Given the description of an element on the screen output the (x, y) to click on. 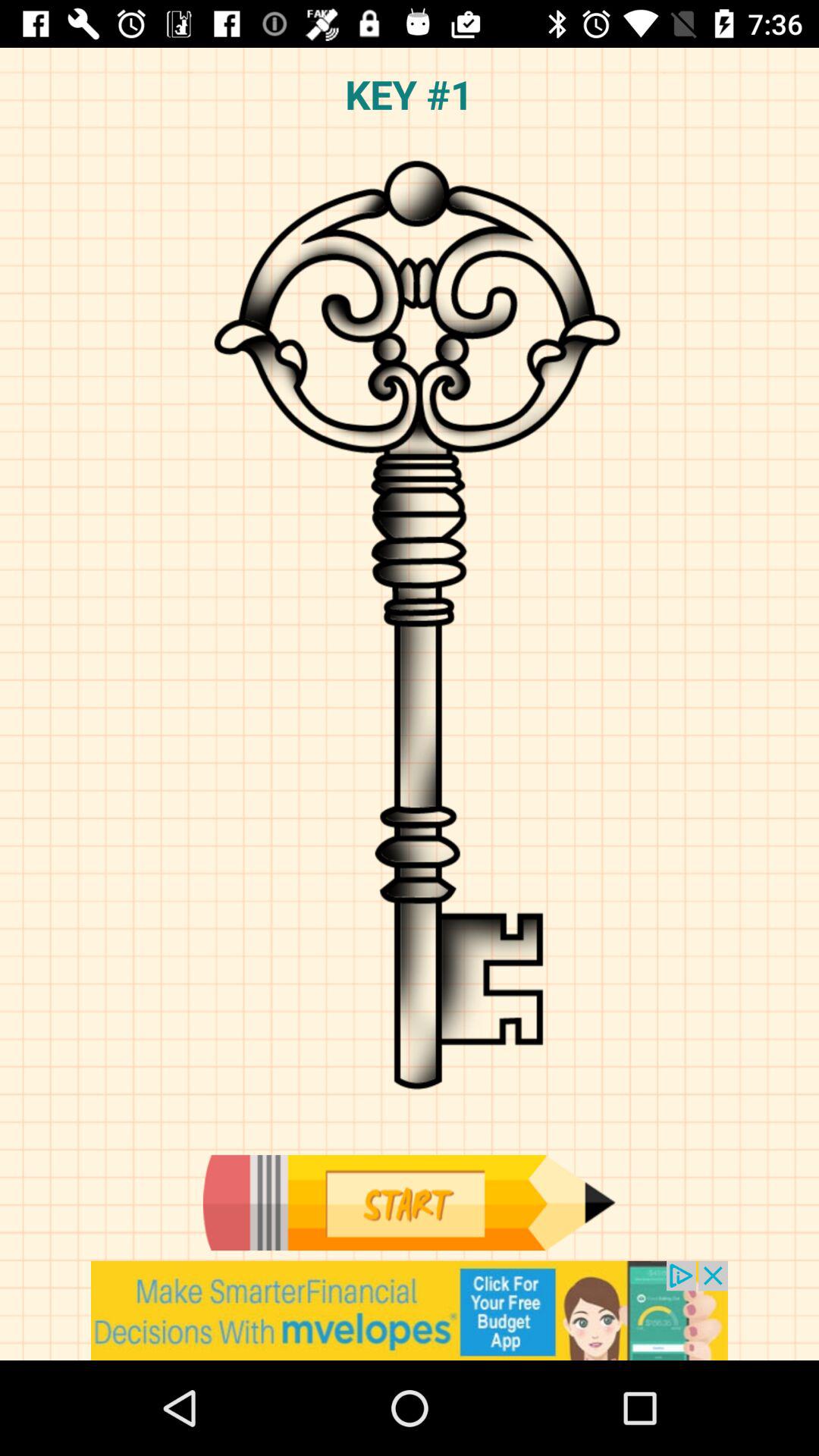
start tutorial (409, 1202)
